Given the description of an element on the screen output the (x, y) to click on. 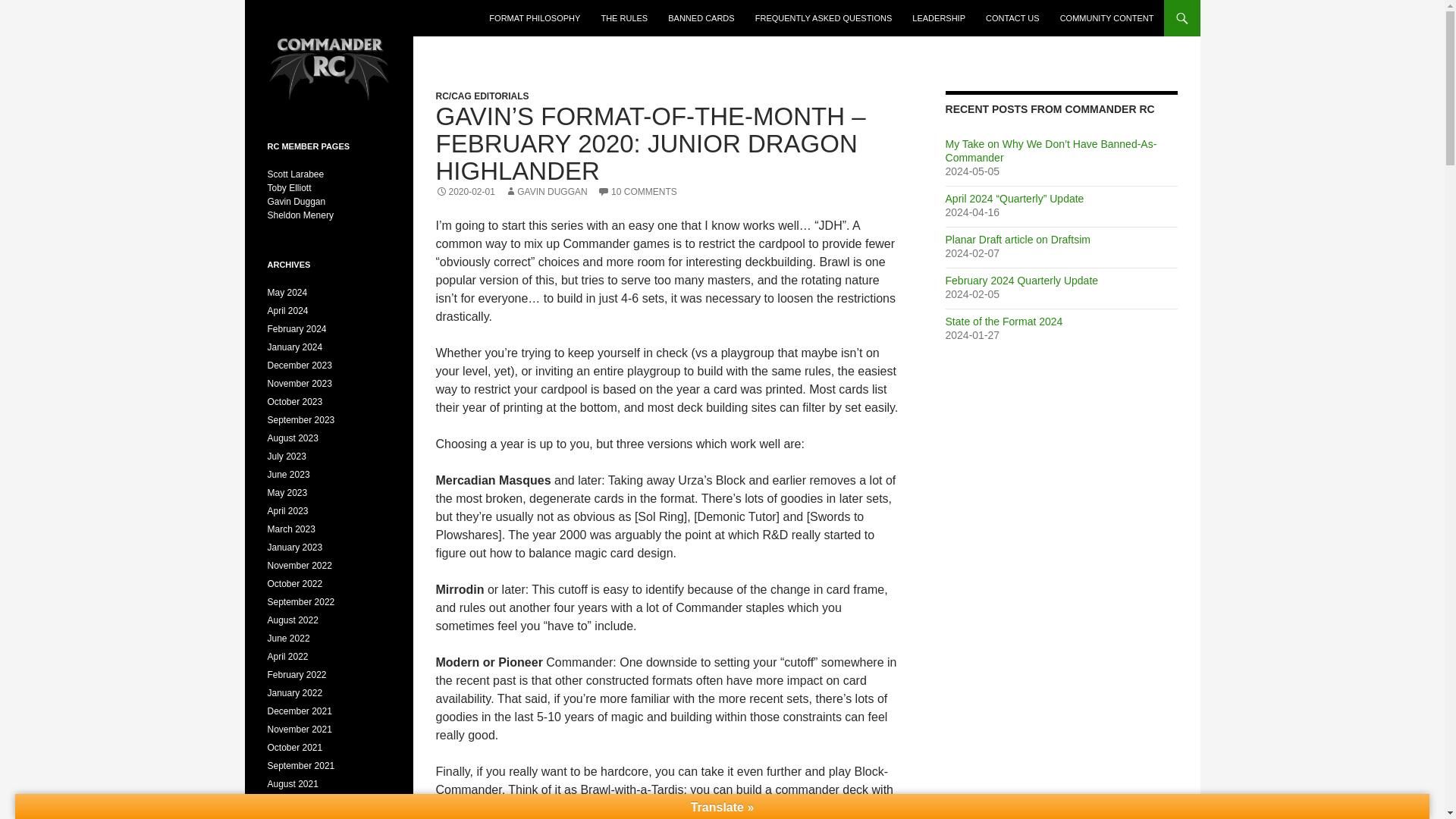
2020-02-01 (465, 191)
10 COMMENTS (636, 191)
FREQUENTLY ASKED QUESTIONS (823, 18)
Official Commander Website (359, 18)
CONTACT US (1012, 18)
LEADERSHIP (938, 18)
COMMUNITY CONTENT (1107, 18)
GAVIN DUGGAN (545, 191)
THE RULES (623, 18)
BANNED CARDS (700, 18)
FORMAT PHILOSOPHY (534, 18)
